Given the description of an element on the screen output the (x, y) to click on. 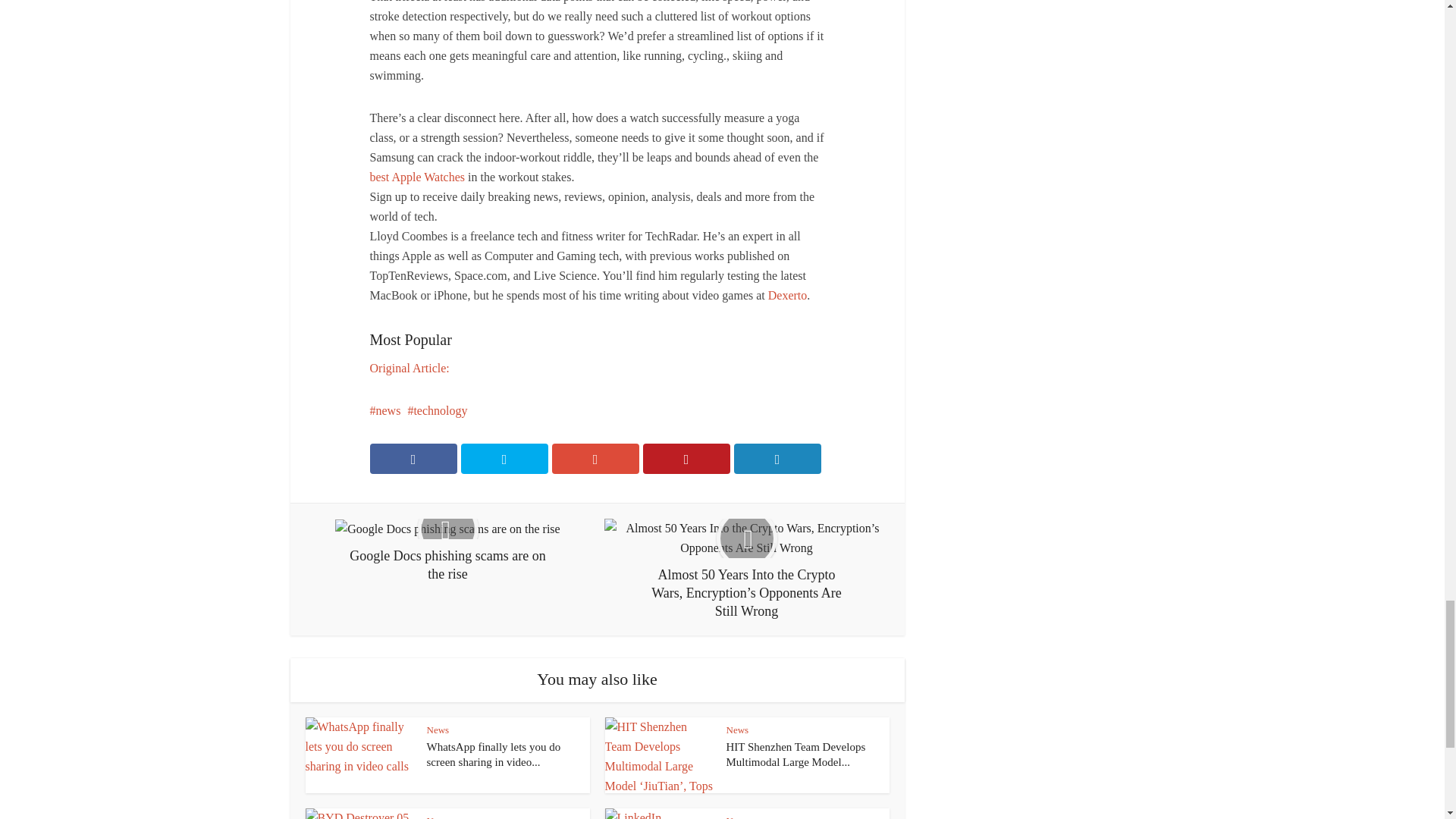
best Apple Watches (417, 176)
news (385, 410)
WhatsApp finally lets you do screen sharing in video calls (493, 754)
Original Article: (409, 367)
Dexerto (788, 295)
technology (437, 410)
